Given the description of an element on the screen output the (x, y) to click on. 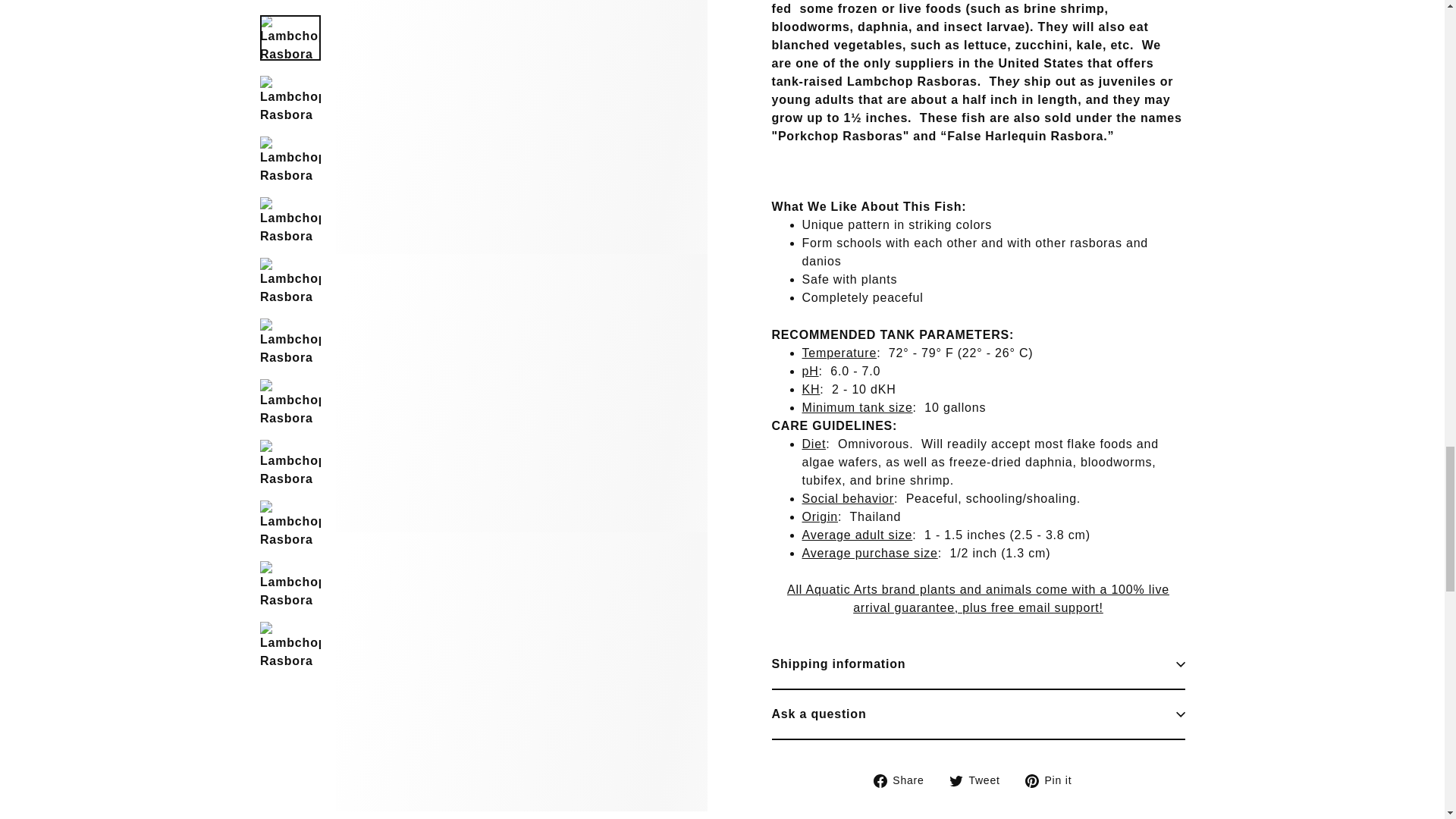
Share on Facebook (904, 80)
Pin on Pinterest (1054, 80)
Tweet on Twitter (980, 80)
